Given the description of an element on the screen output the (x, y) to click on. 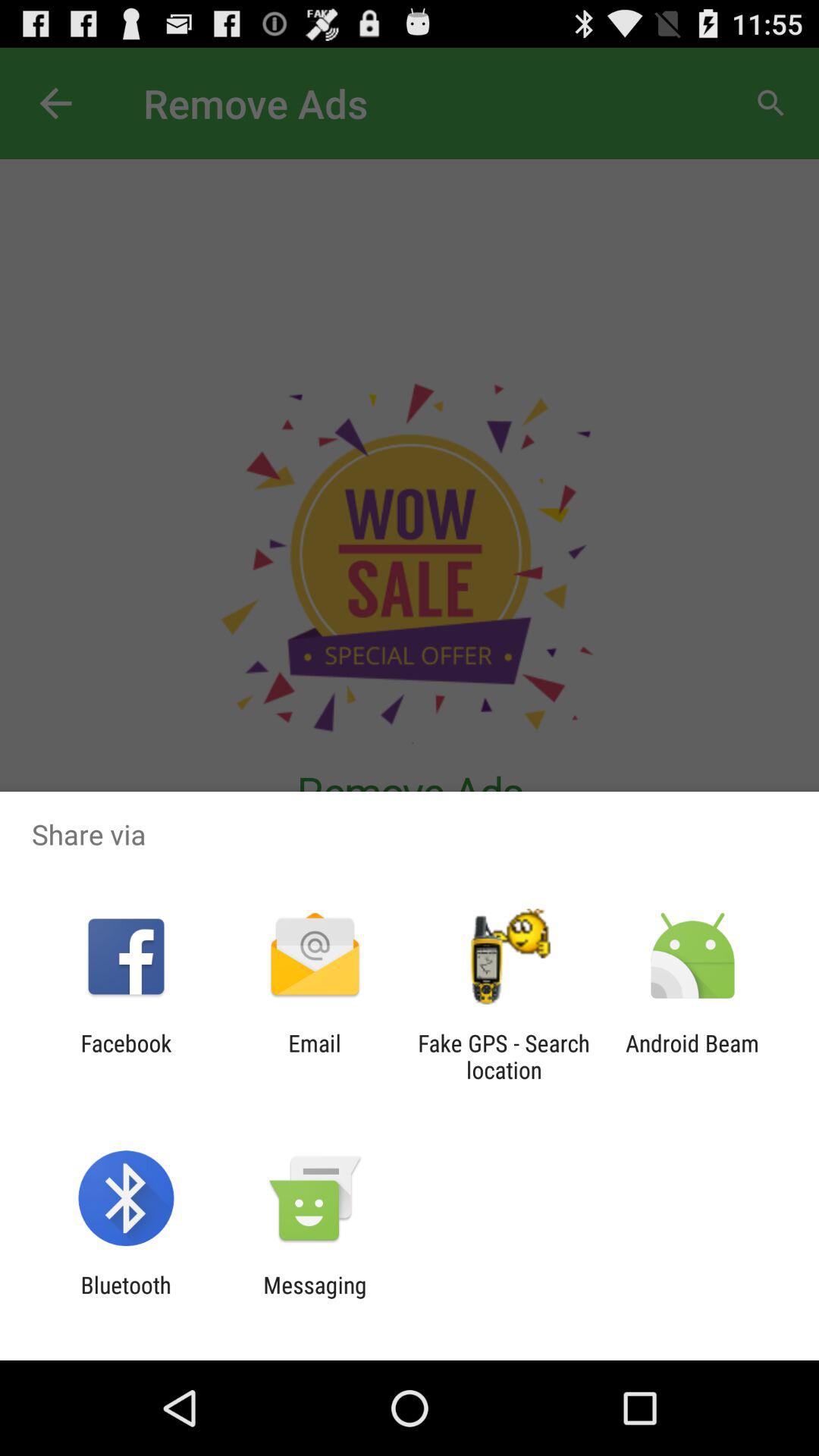
launch the icon to the left of the fake gps search (314, 1056)
